Given the description of an element on the screen output the (x, y) to click on. 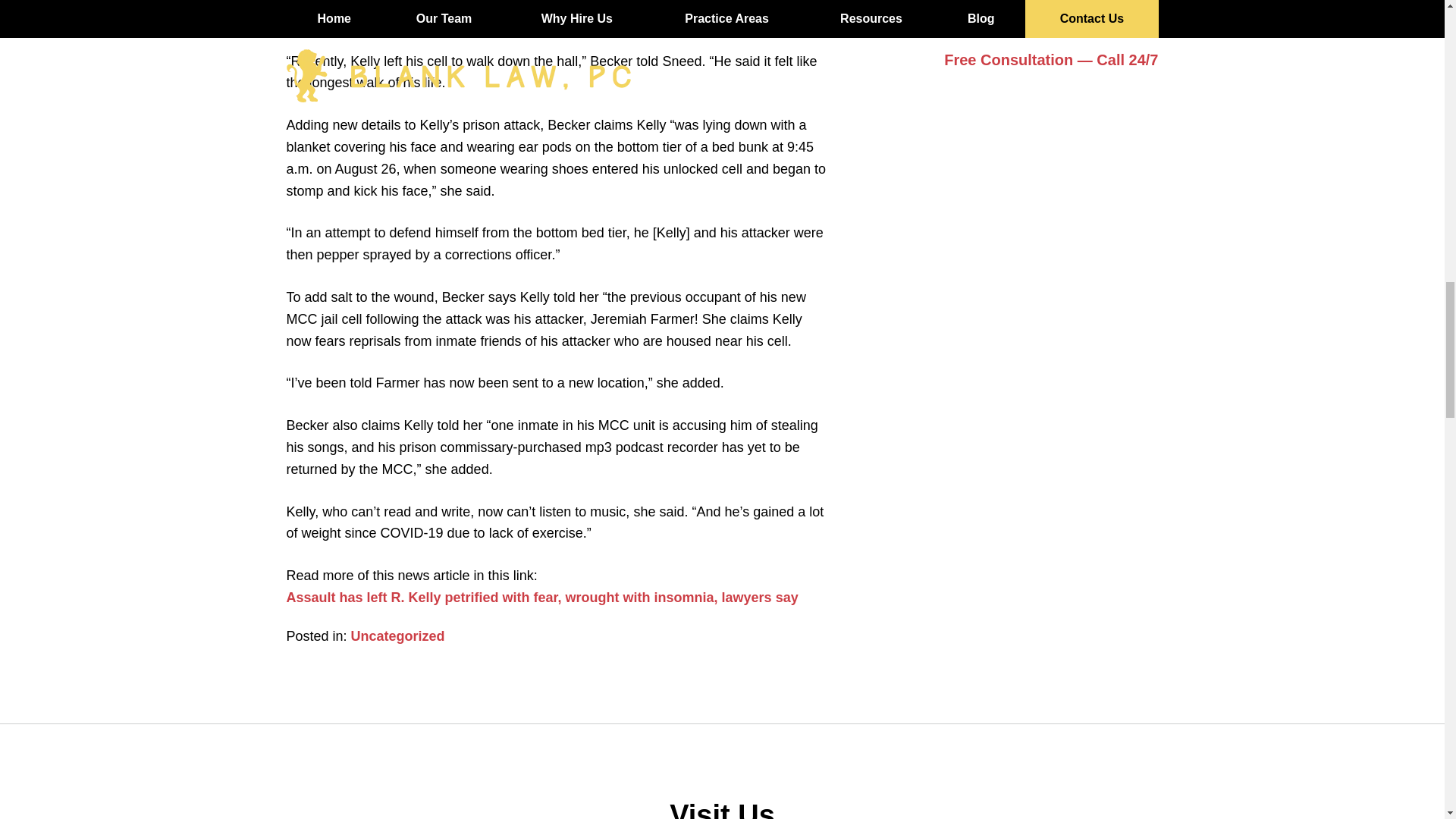
Uncategorized (397, 635)
